Given the description of an element on the screen output the (x, y) to click on. 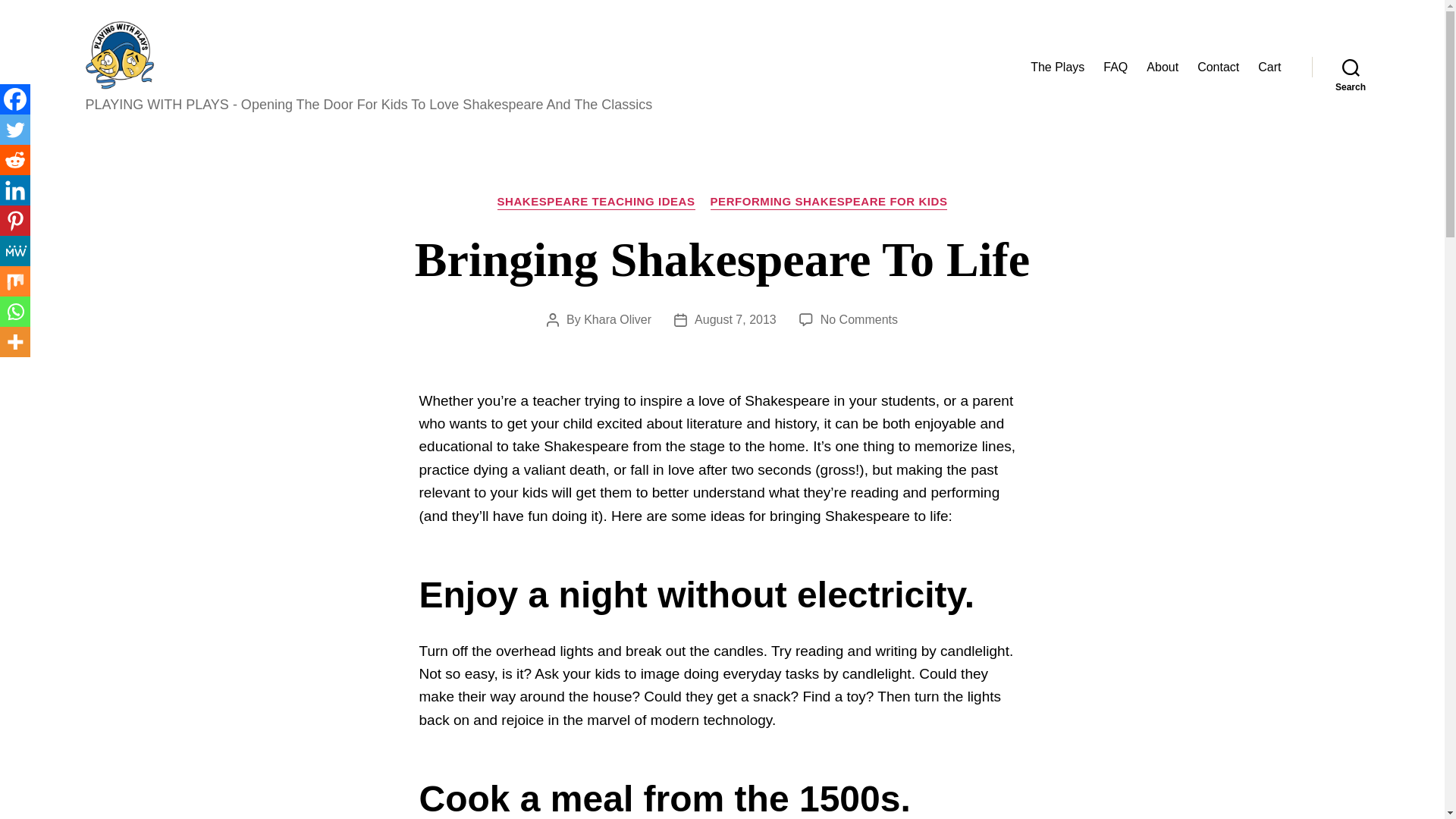
Reddit (15, 159)
Cart (1269, 66)
The Plays (1057, 66)
Pinterest (15, 220)
Twitter (15, 129)
August 7, 2013 (735, 318)
MeWe (15, 250)
Mix (15, 281)
PERFORMING SHAKESPEARE FOR KIDS (859, 318)
